Given the description of an element on the screen output the (x, y) to click on. 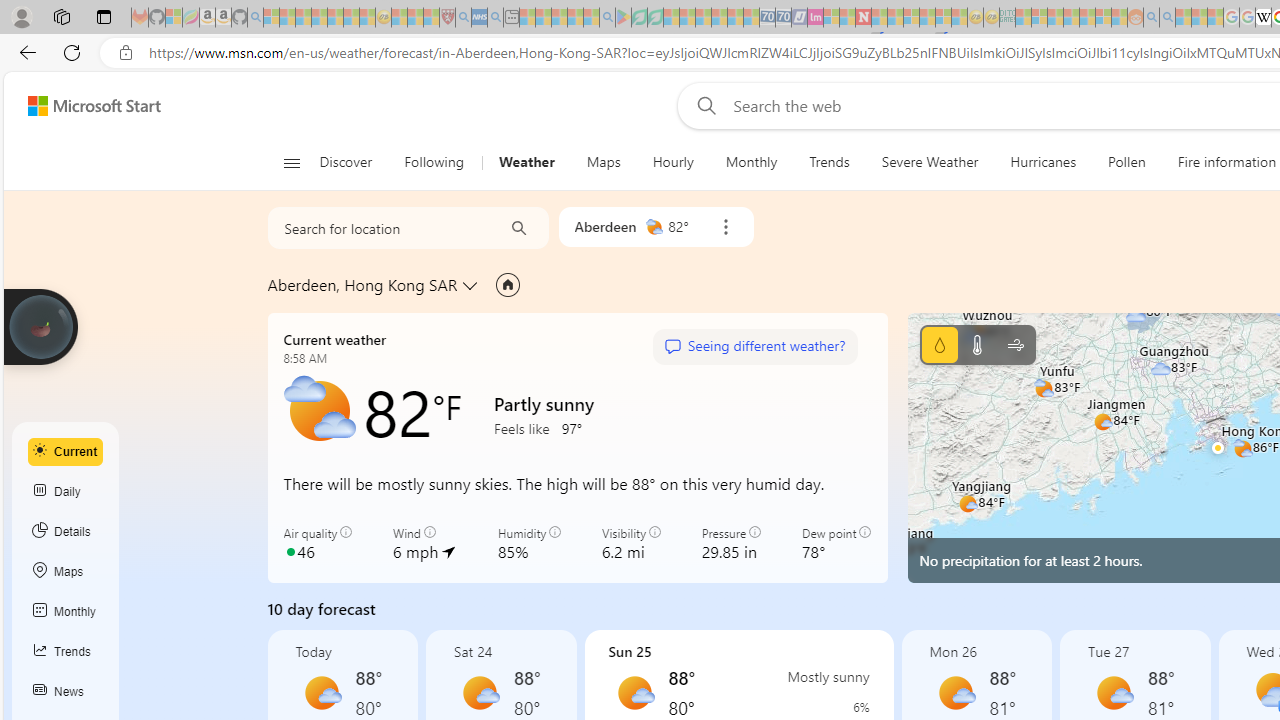
Hourly (673, 162)
Hourly (672, 162)
Maps (603, 162)
Join us in planting real trees to help our planet! (40, 325)
Current (65, 451)
Severe Weather (929, 162)
Terms of Use Agreement - Sleeping (639, 17)
Pollen (1126, 162)
Wind 6 mph (424, 543)
